Given the description of an element on the screen output the (x, y) to click on. 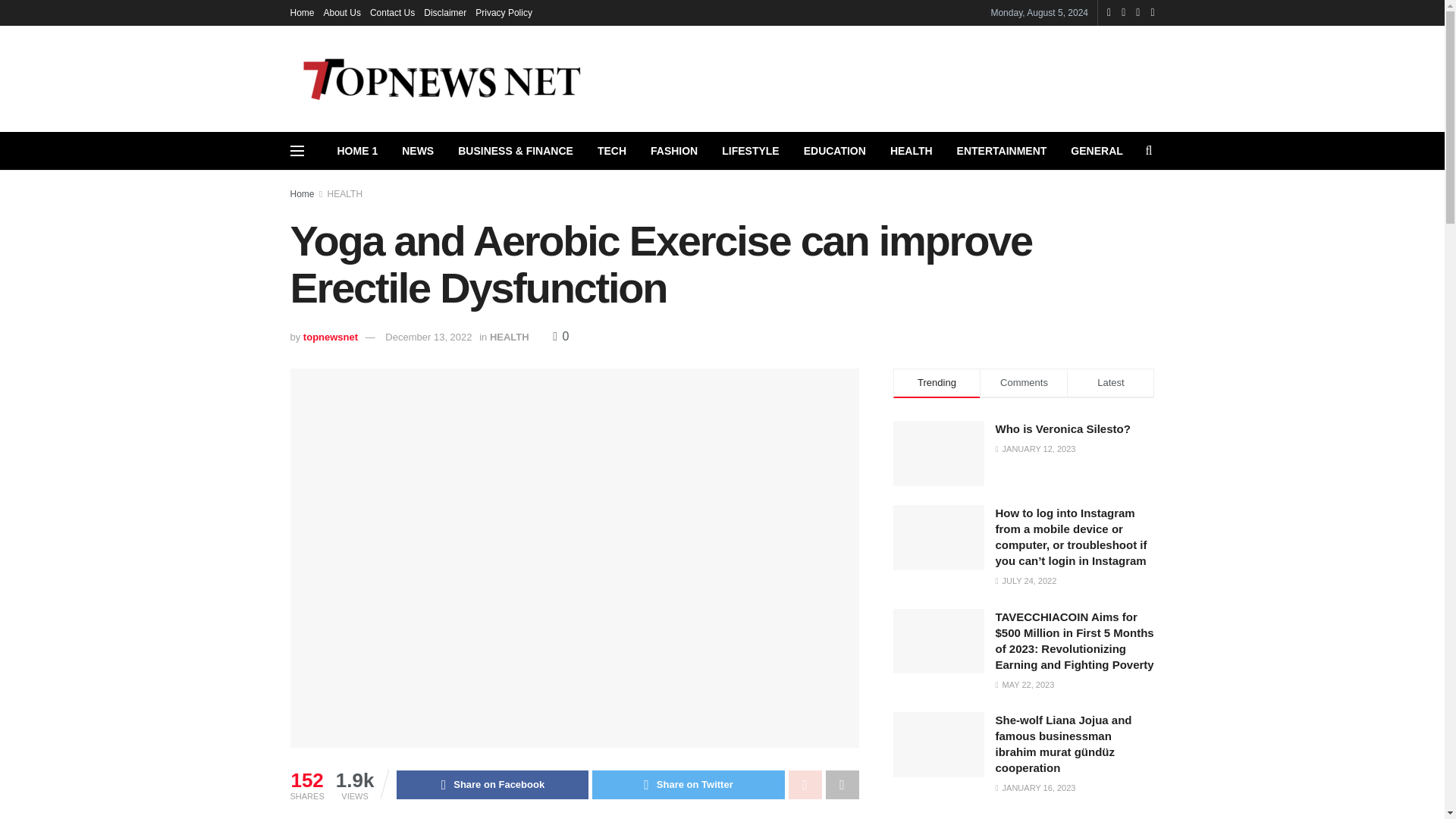
Disclaimer (444, 12)
About Us (342, 12)
December 13, 2022 (428, 337)
FASHION (674, 150)
LIFESTYLE (750, 150)
Home (301, 12)
topnewsnet (330, 337)
0 (561, 336)
TECH (612, 150)
GENERAL (1096, 150)
